Given the description of an element on the screen output the (x, y) to click on. 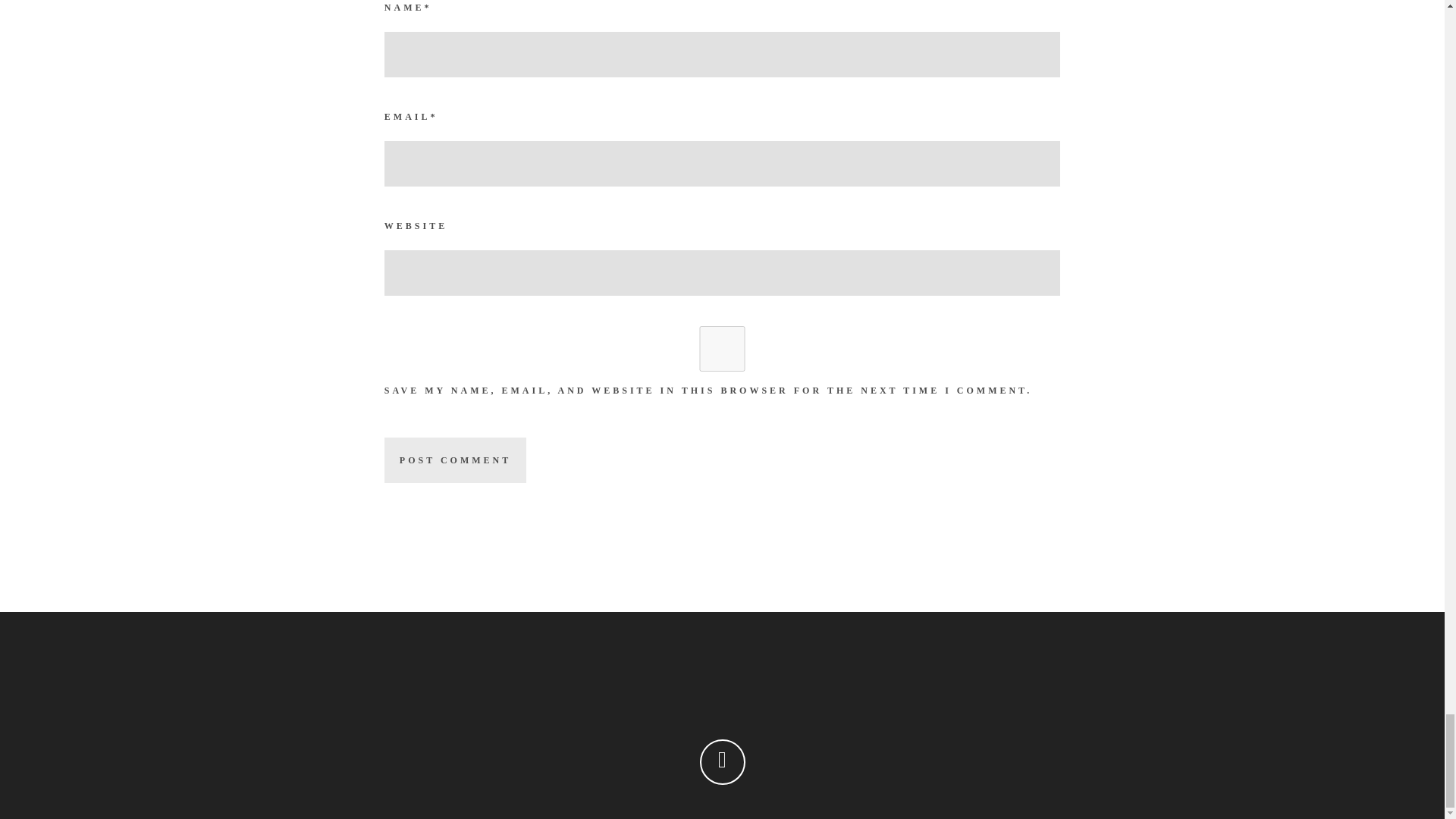
yes (721, 348)
Post Comment (454, 460)
Post Comment (454, 460)
